Given the description of an element on the screen output the (x, y) to click on. 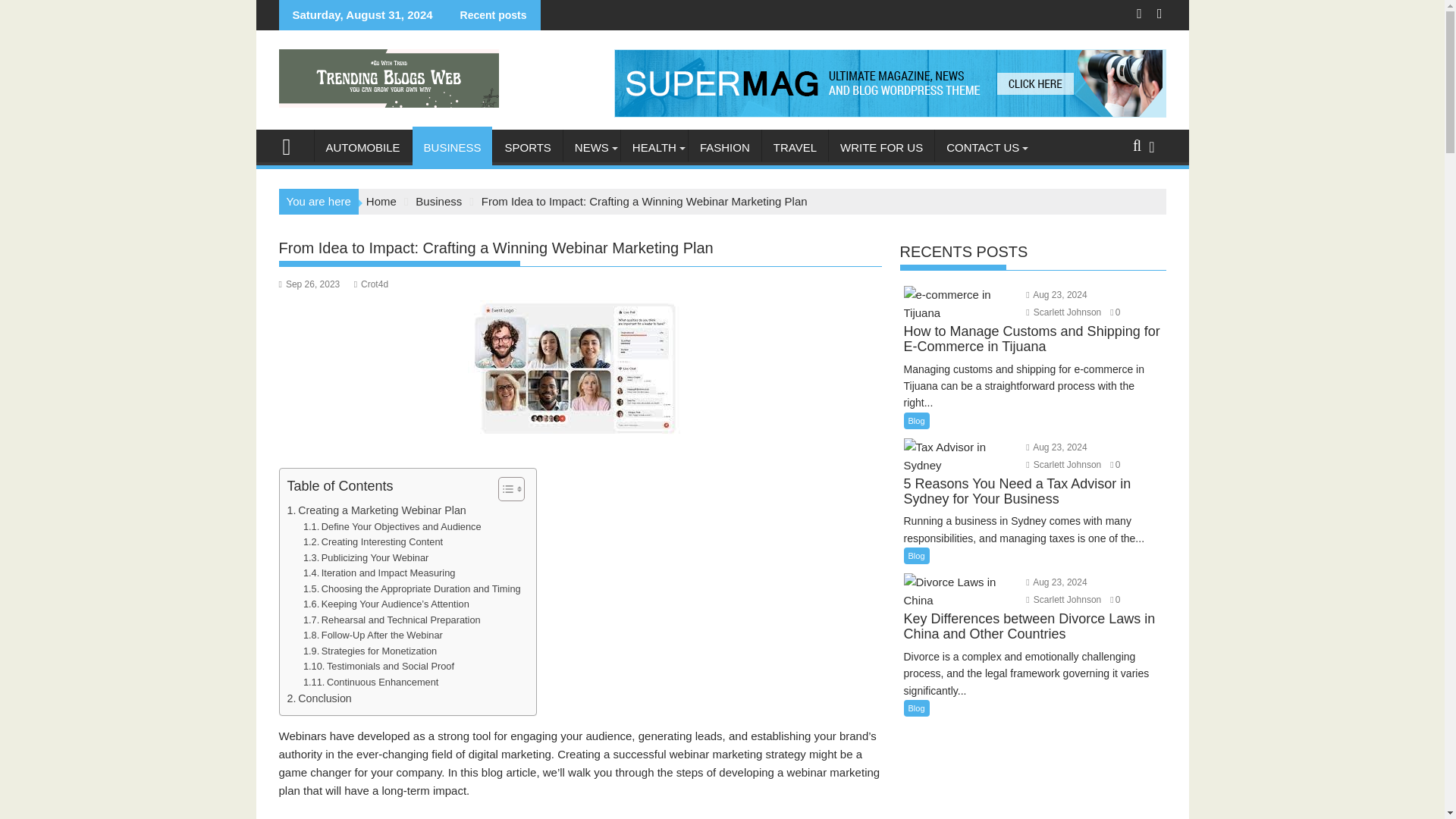
Define Your Objectives and Audience (391, 527)
Define Your Objectives and Audience (391, 527)
TRAVEL (794, 147)
Publicizing Your Webinar (365, 558)
HEALTH (654, 147)
Creating a Marketing Webinar Plan (375, 510)
Creating Interesting Content (372, 542)
BUSINESS (452, 147)
Business (437, 201)
WRITE FOR US (881, 147)
